Given the description of an element on the screen output the (x, y) to click on. 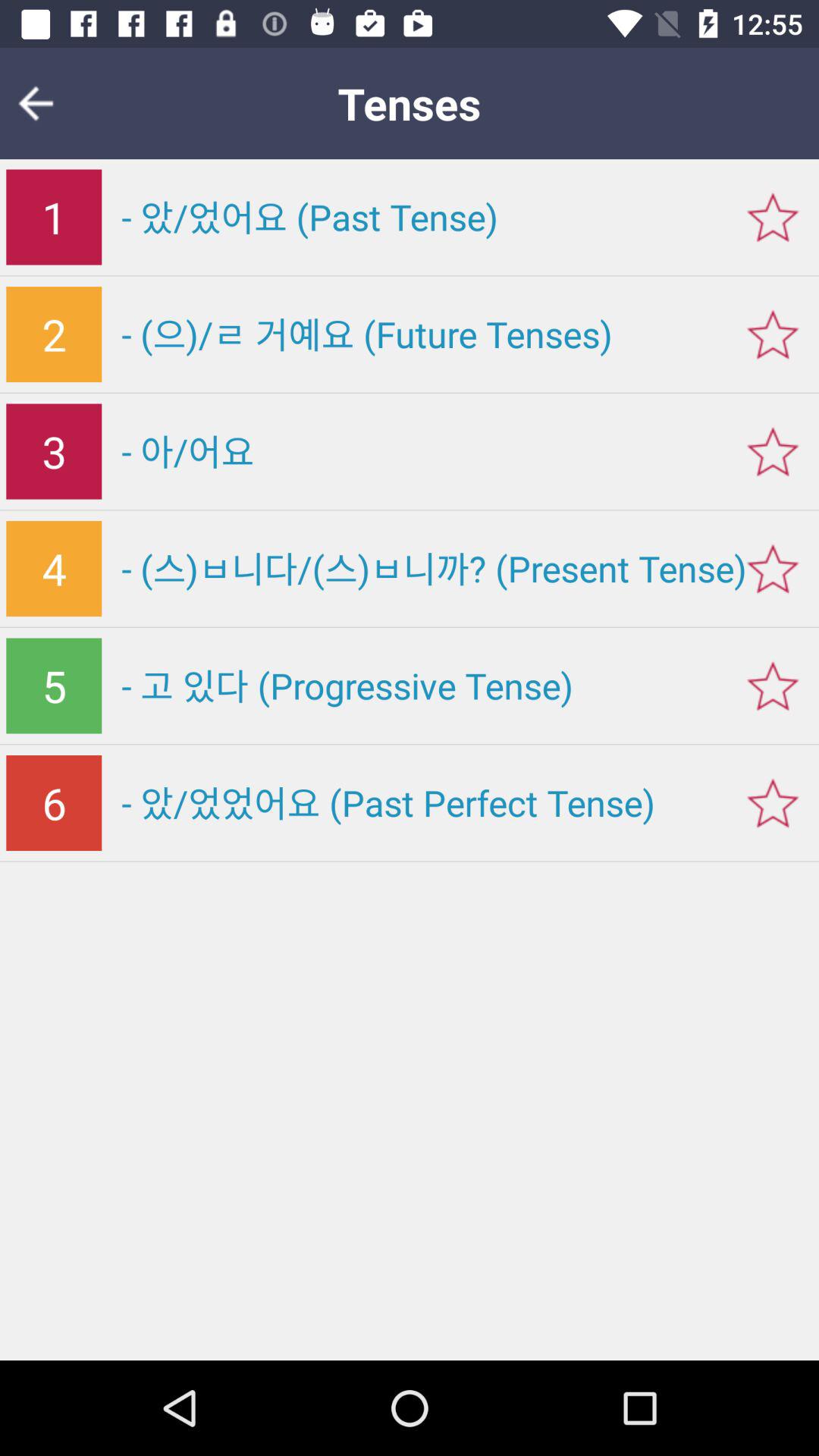
jump until 3 (53, 451)
